Given the description of an element on the screen output the (x, y) to click on. 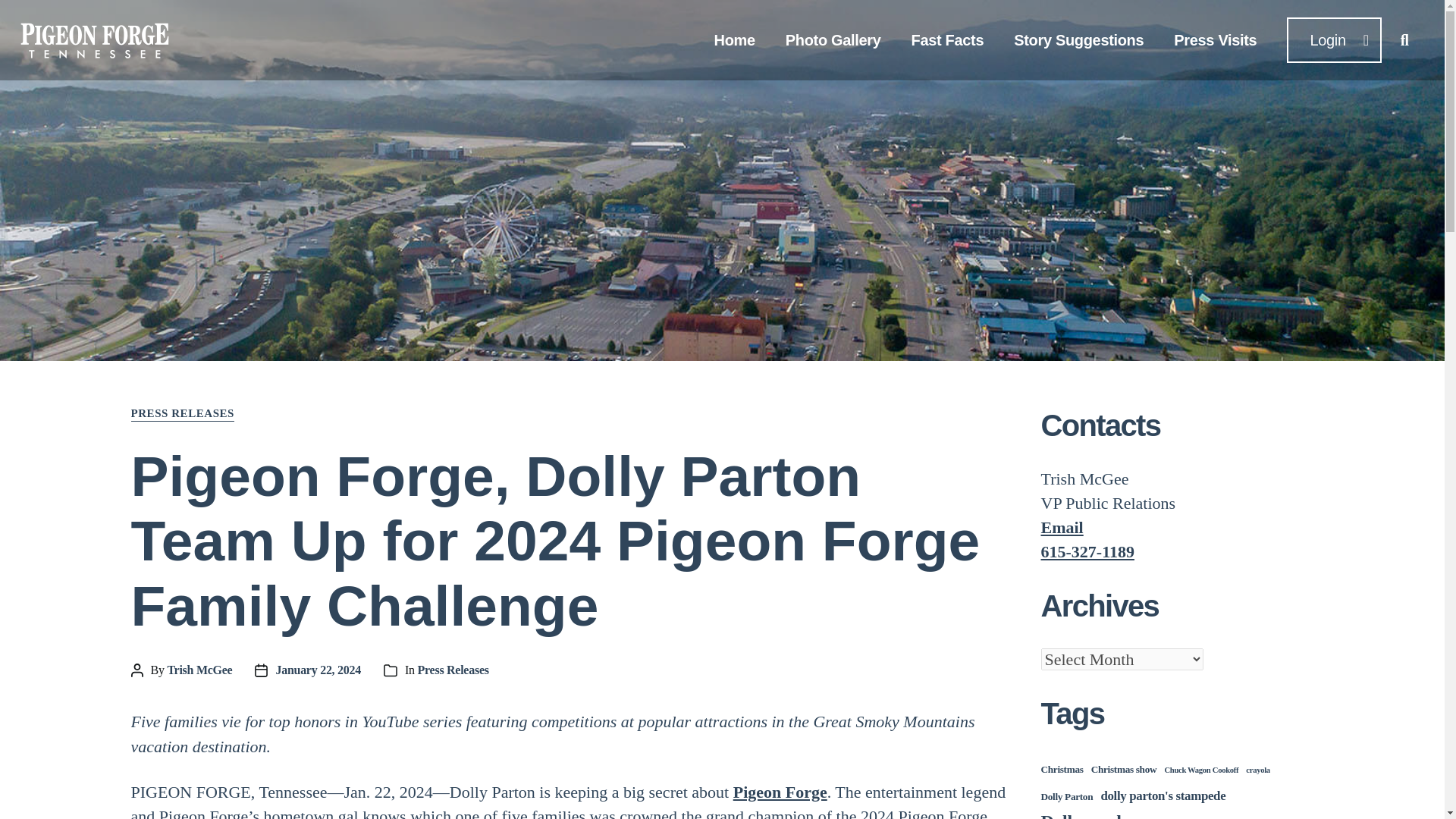
Trish McGee (199, 669)
Chuck Wagon Cookoff (1201, 769)
Login (1333, 40)
Photo Gallery (833, 40)
Press Visits (1214, 40)
PRESS RELEASES (182, 413)
Email (1062, 527)
Dolly Parton (1067, 796)
Press Releases (453, 669)
Pigeon Forge (780, 791)
